Given the description of an element on the screen output the (x, y) to click on. 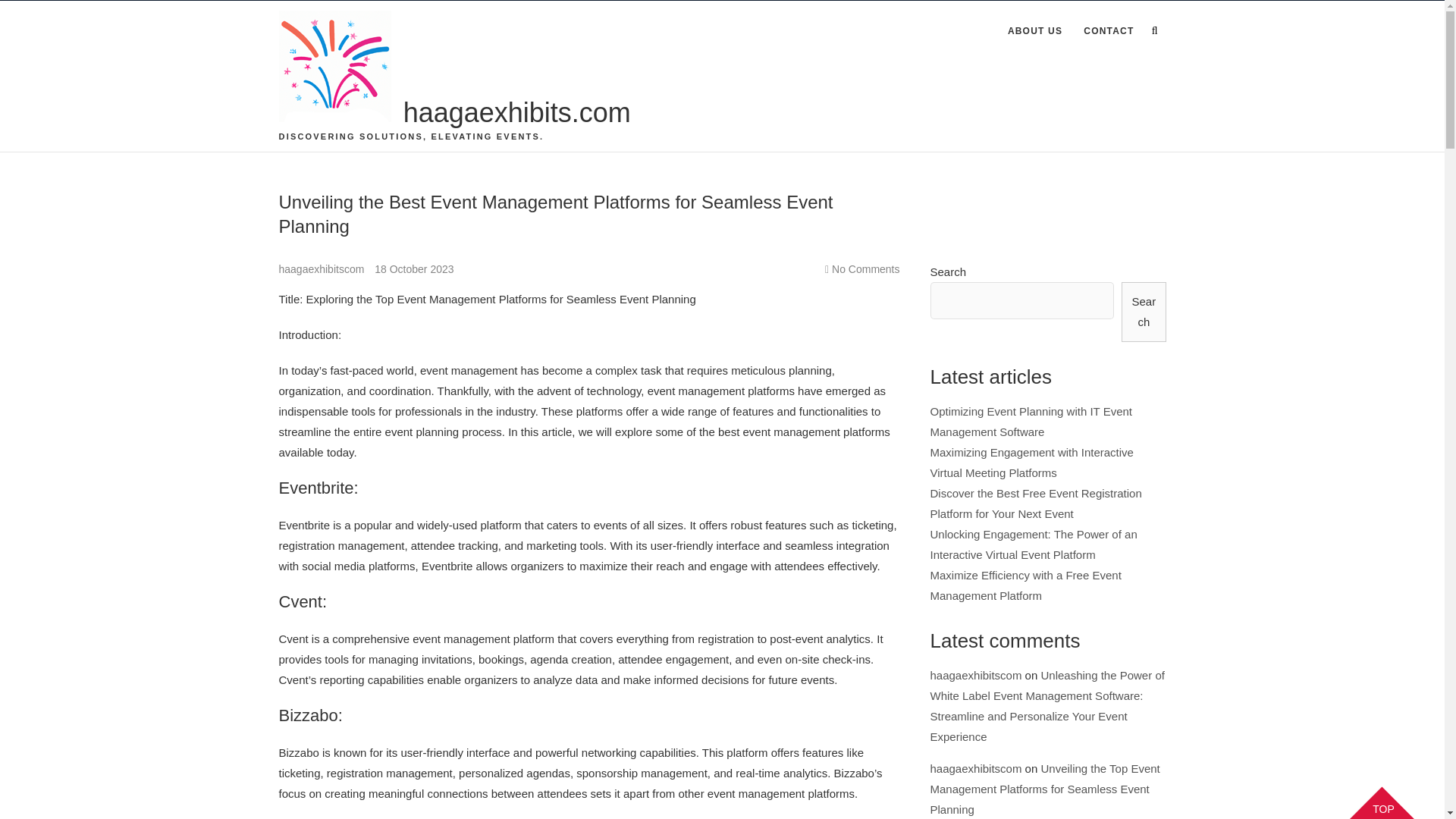
No Comments (865, 268)
haagaexhibits.com (516, 113)
13:27 (413, 268)
ABOUT US (1034, 31)
haagaexhibits.com (516, 113)
haagaexhibitscom (323, 268)
CONTACT (1108, 31)
haagaexhibitscom (323, 268)
18 October 2023 (413, 268)
